Given the description of an element on the screen output the (x, y) to click on. 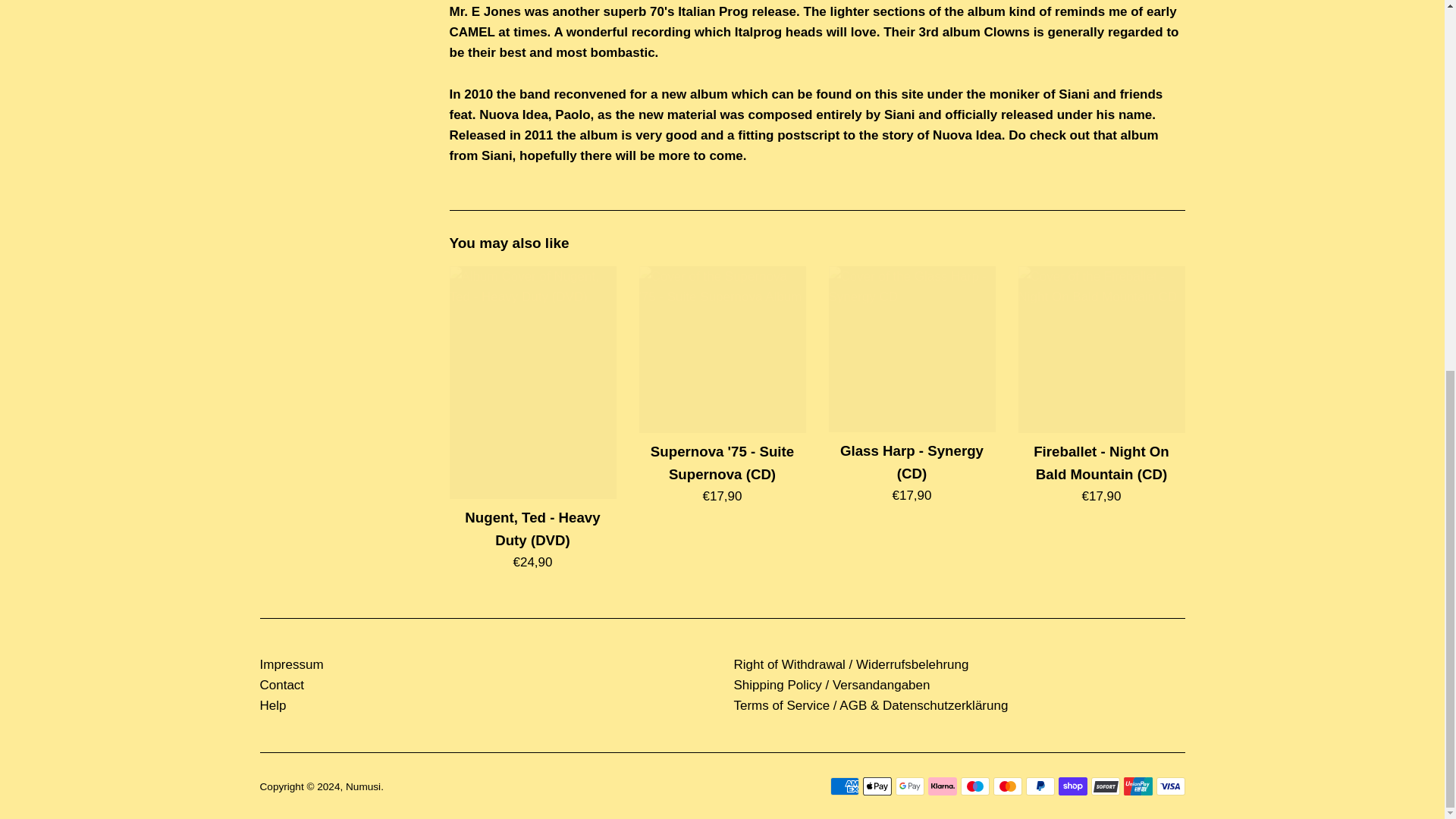
Visa (1170, 786)
Glass Harp - Synergy (911, 349)
Maestro (973, 786)
Fireballet - Night On Bald Mountain (1101, 349)
Klarna (942, 786)
Shop Pay (1072, 786)
Google Pay (909, 786)
Apple Pay (877, 786)
PayPal (1039, 786)
American Express (844, 786)
